Given the description of an element on the screen output the (x, y) to click on. 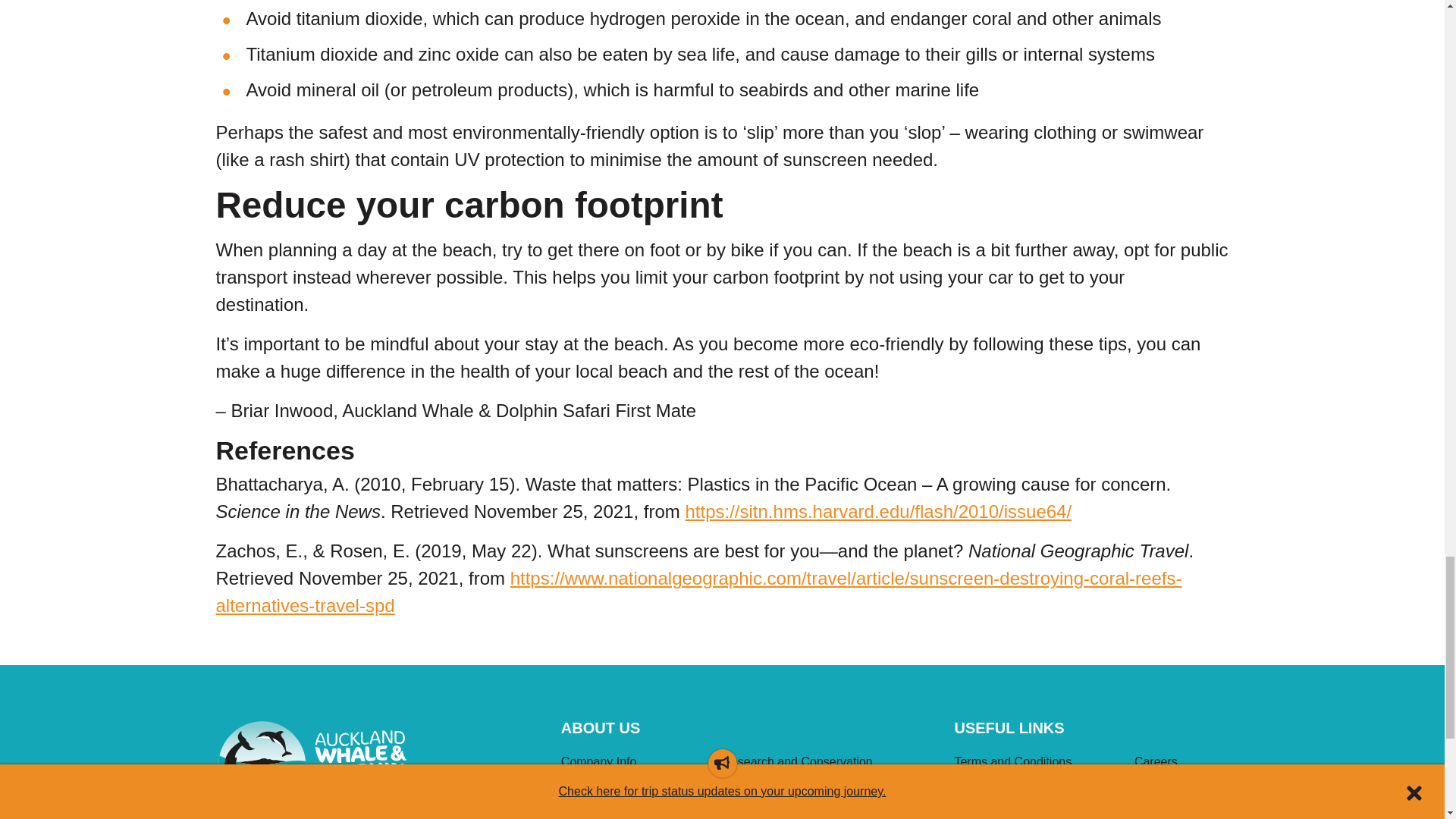
Responsible Whale Watching (826, 796)
Boat and Crew (635, 796)
Blog (826, 816)
Company Info (635, 763)
Careers (1181, 763)
Research and Conservation (826, 763)
Terms and Conditions (1037, 763)
